Given the description of an element on the screen output the (x, y) to click on. 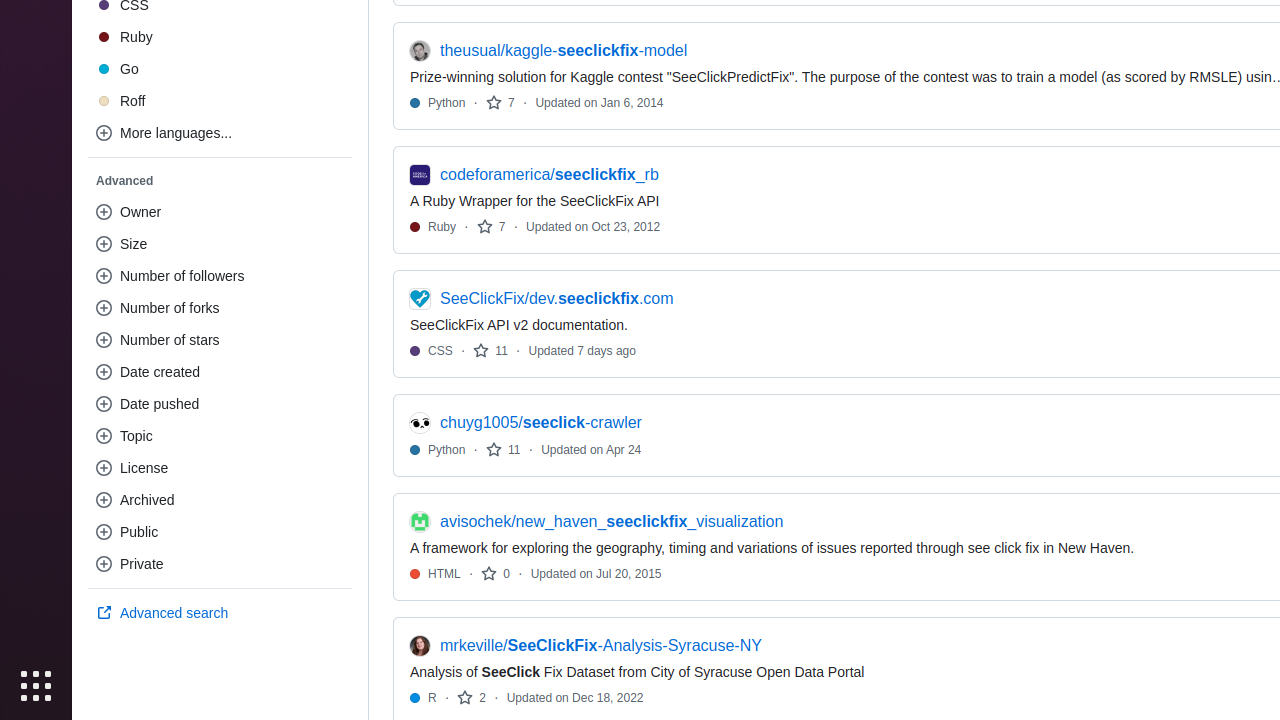
chuyg1005/seeclick-crawler Element type: link (541, 423)
codeforamerica/seeclickfix_rb Element type: link (549, 175)
‎Public‎ Element type: link (220, 532)
0 stars Element type: link (496, 573)
More languages... Element type: push-button (220, 133)
